Given the description of an element on the screen output the (x, y) to click on. 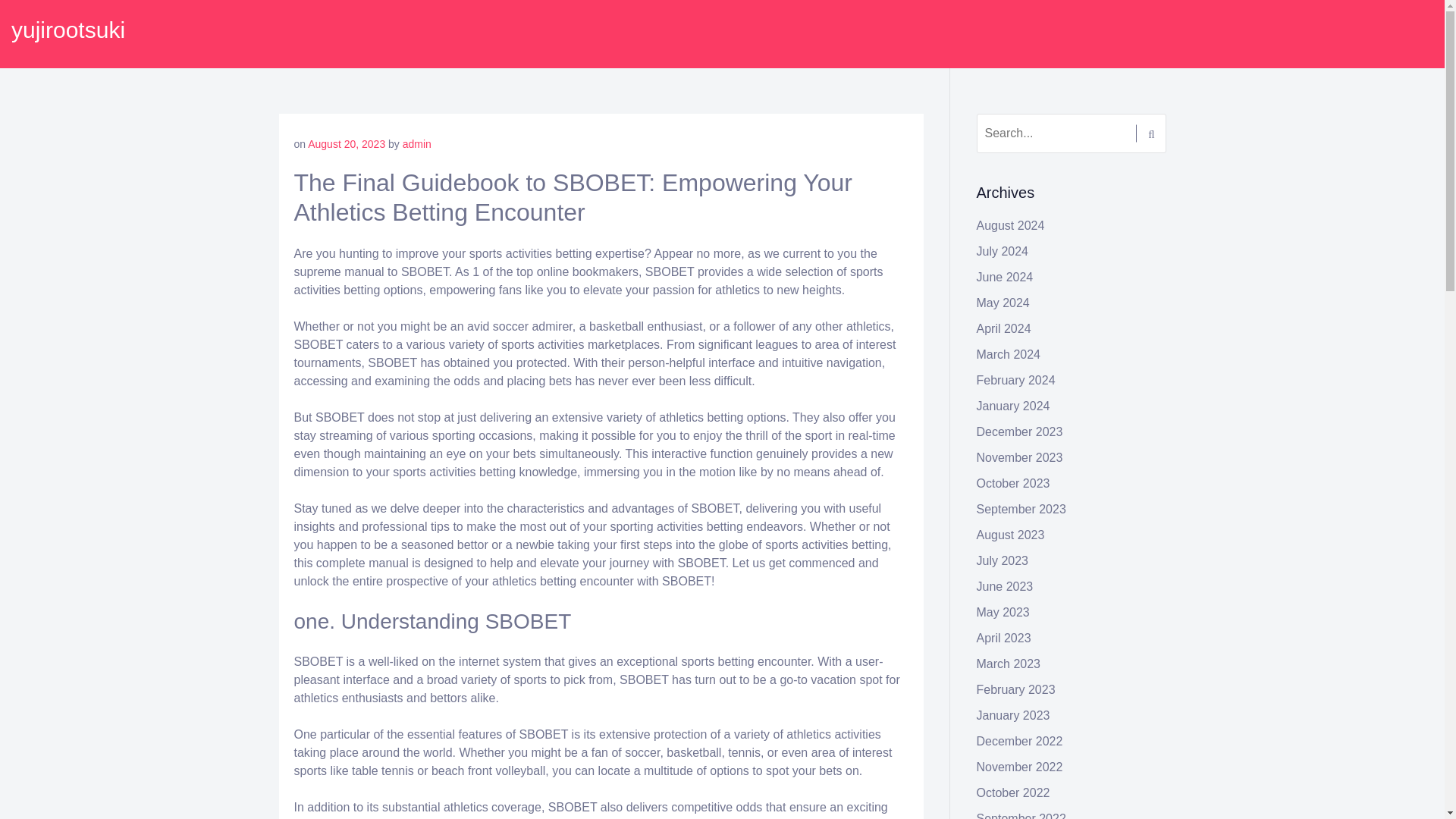
June 2024 (1004, 277)
September 2023 (1020, 508)
December 2023 (1019, 431)
May 2023 (1002, 612)
July 2023 (1002, 560)
October 2023 (1012, 482)
July 2024 (1002, 250)
May 2024 (1002, 302)
April 2023 (1003, 637)
November 2023 (1019, 457)
